Given the description of an element on the screen output the (x, y) to click on. 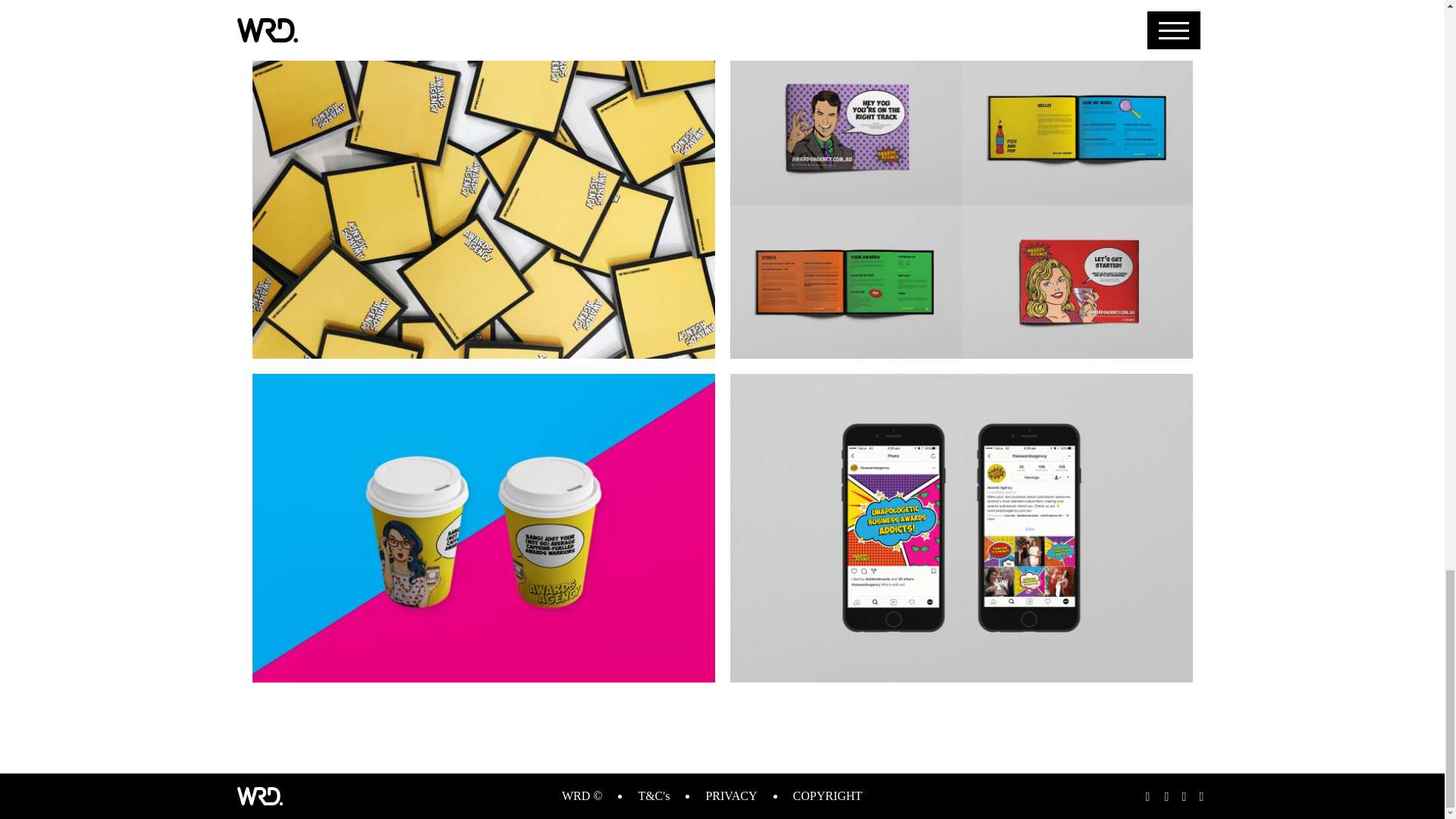
PRIVACY (730, 796)
COPYRIGHT (828, 796)
